Given the description of an element on the screen output the (x, y) to click on. 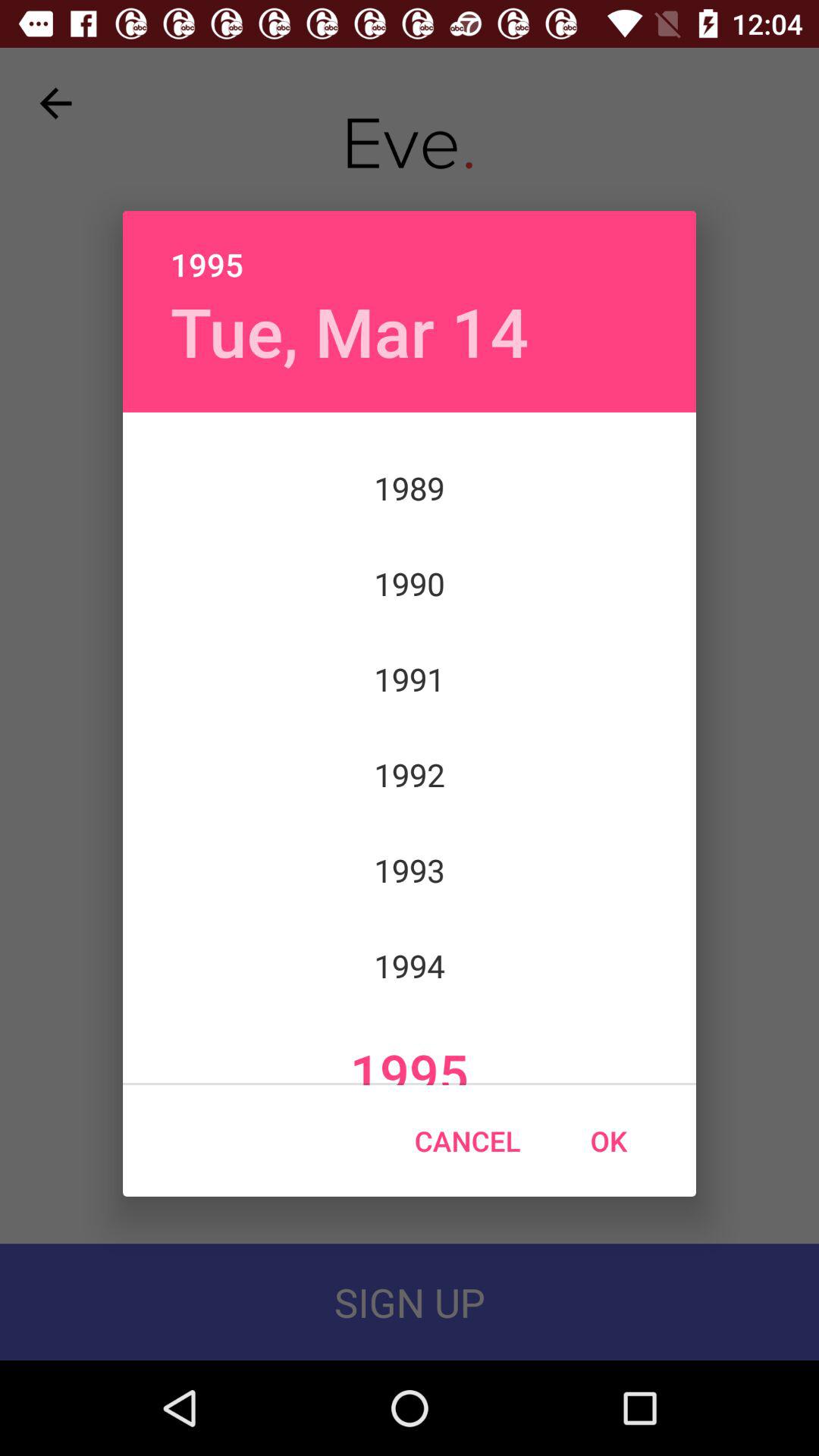
scroll to ok item (608, 1140)
